Given the description of an element on the screen output the (x, y) to click on. 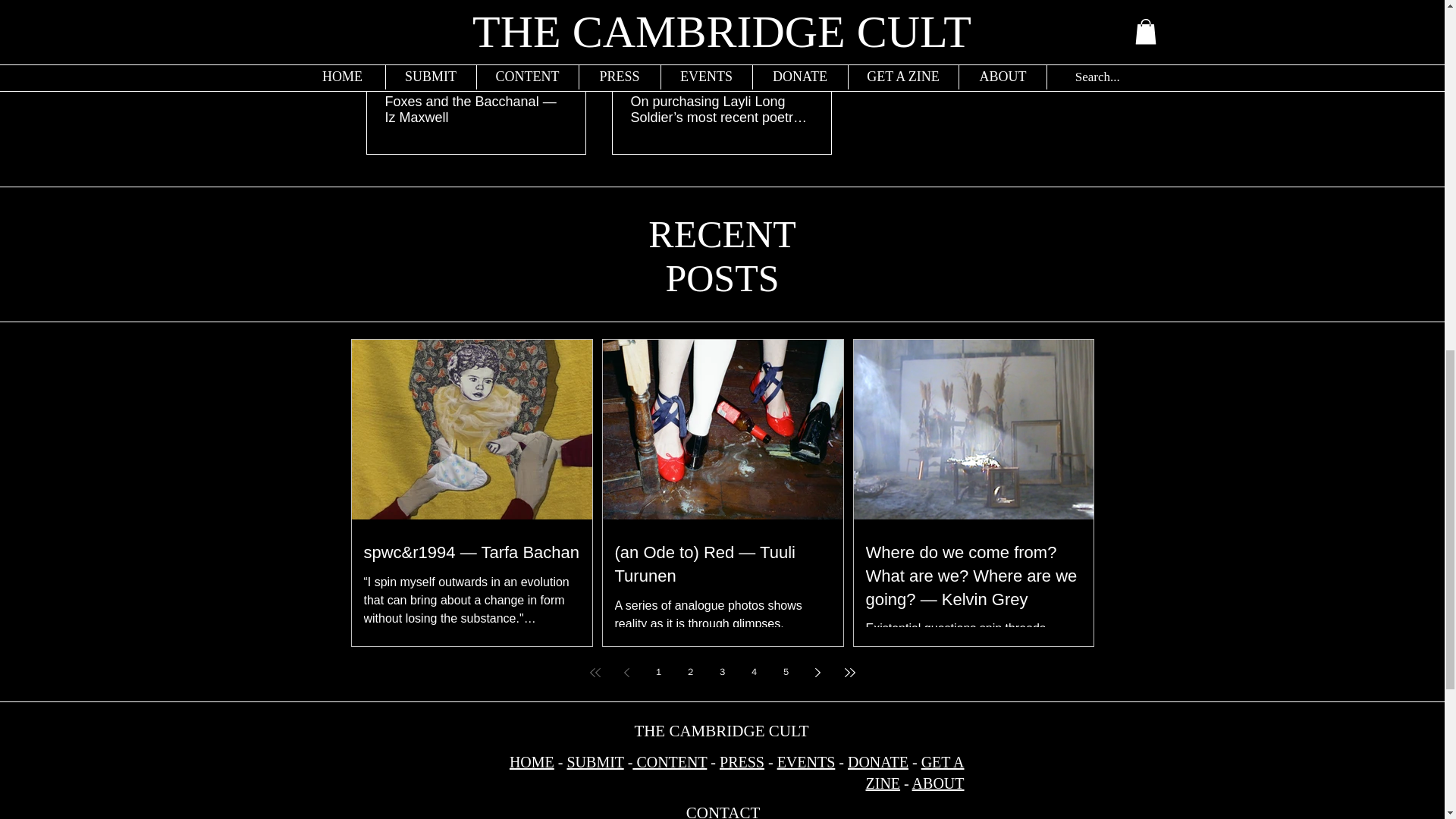
HOME (531, 761)
SUBMIT (594, 761)
 CONTENT (668, 761)
4 (753, 672)
2 (690, 672)
PRESS (741, 761)
THE CAMBRIDGE CULT (720, 730)
3 (721, 672)
5 (785, 672)
GET A ZINE (914, 772)
